Given the description of an element on the screen output the (x, y) to click on. 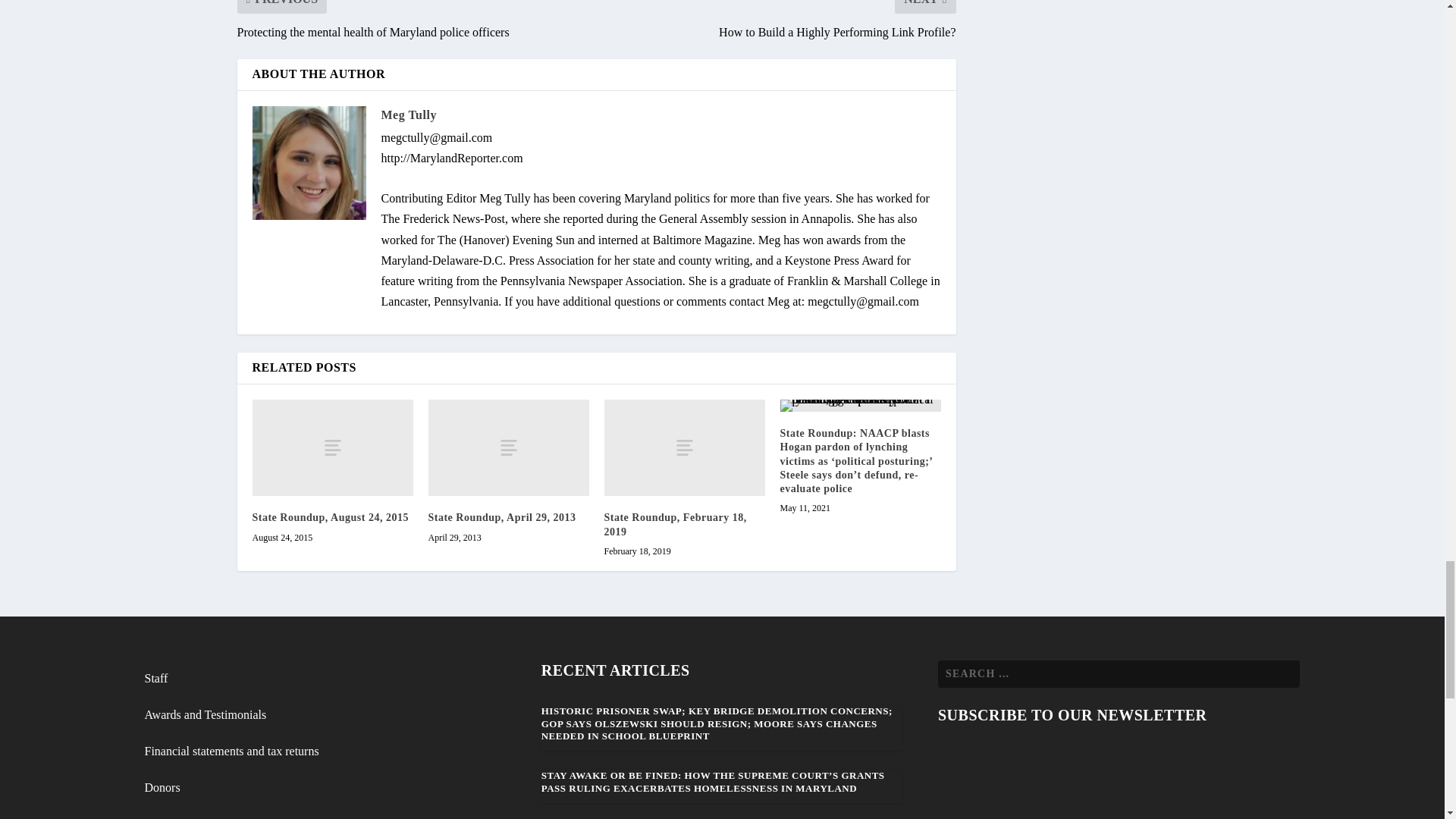
View all posts by Meg Tully (407, 114)
State Roundup, April 29, 2013 (508, 447)
State Roundup, August 24, 2015 (331, 447)
